Given the description of an element on the screen output the (x, y) to click on. 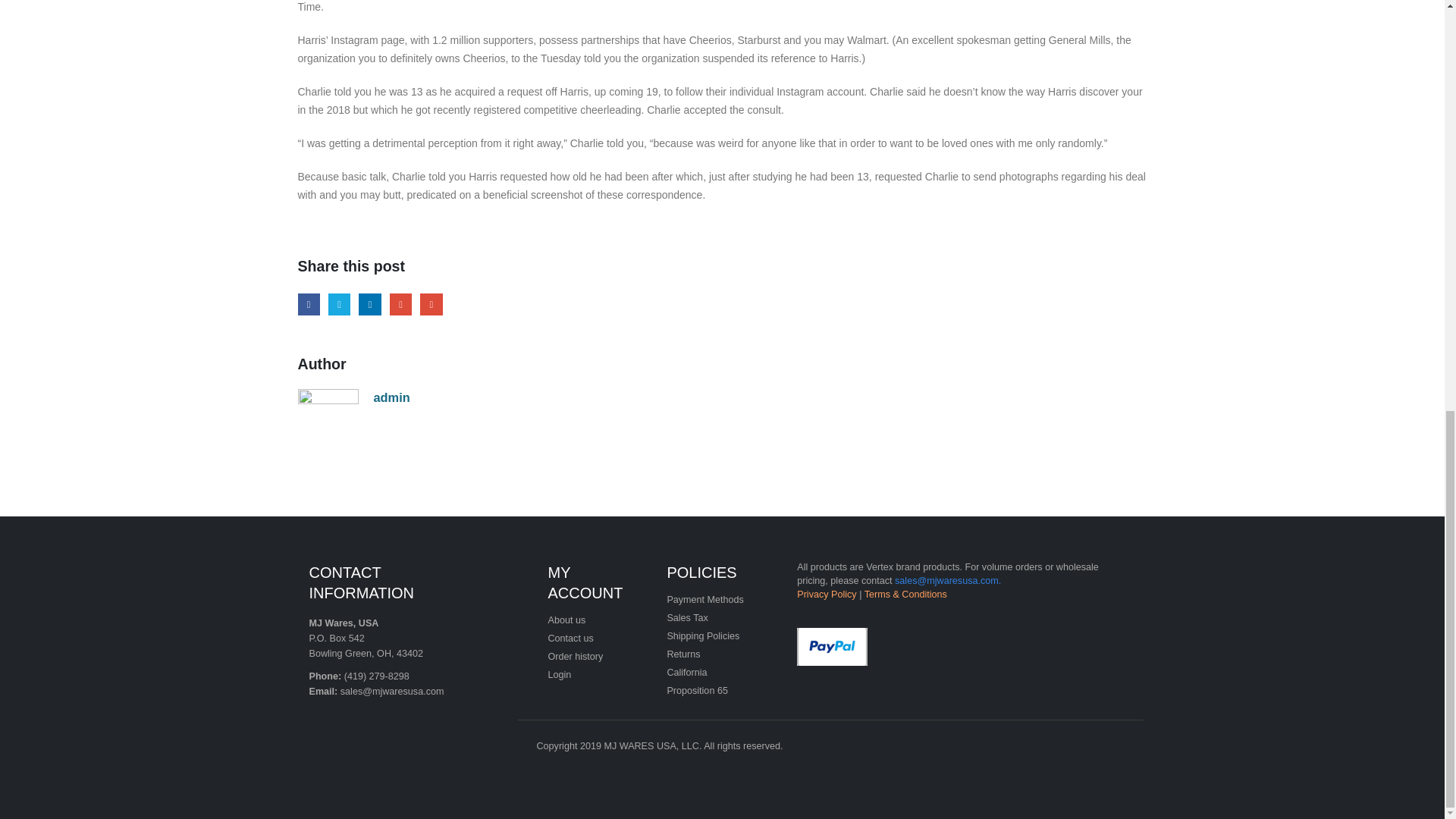
Twitter (339, 304)
Facebook (307, 304)
LinkedIn (369, 304)
Order history (574, 656)
Posts by admin (390, 397)
Contact Us (569, 638)
California Proposition 65 (697, 681)
About us (566, 620)
Email (431, 304)
Sales Tax (686, 617)
